Given the description of an element on the screen output the (x, y) to click on. 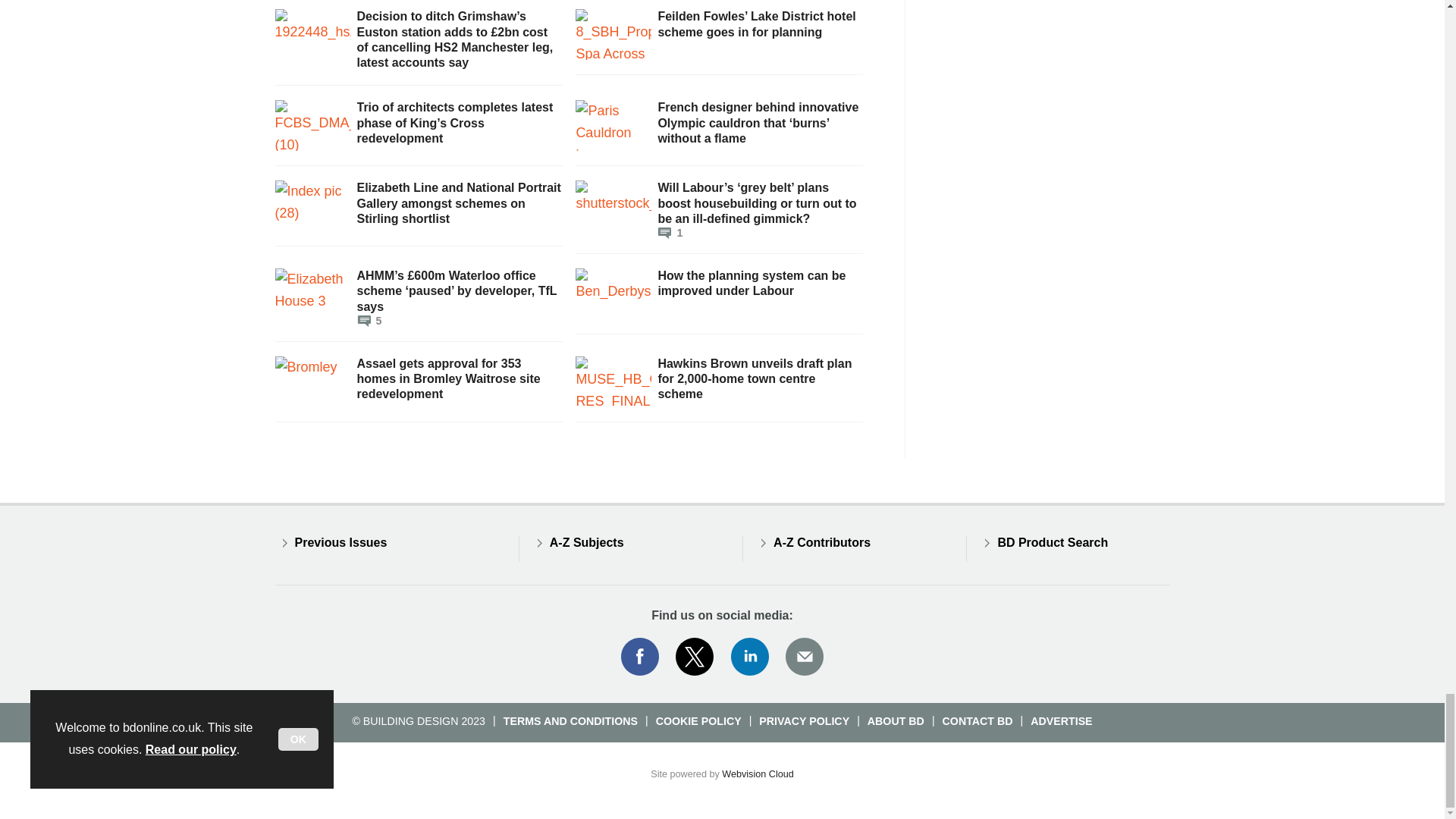
Email us (804, 656)
Connect with us on Twitter (694, 656)
Connect with us on Linked in (750, 656)
Connect with us on Facebook (639, 656)
